Given the description of an element on the screen output the (x, y) to click on. 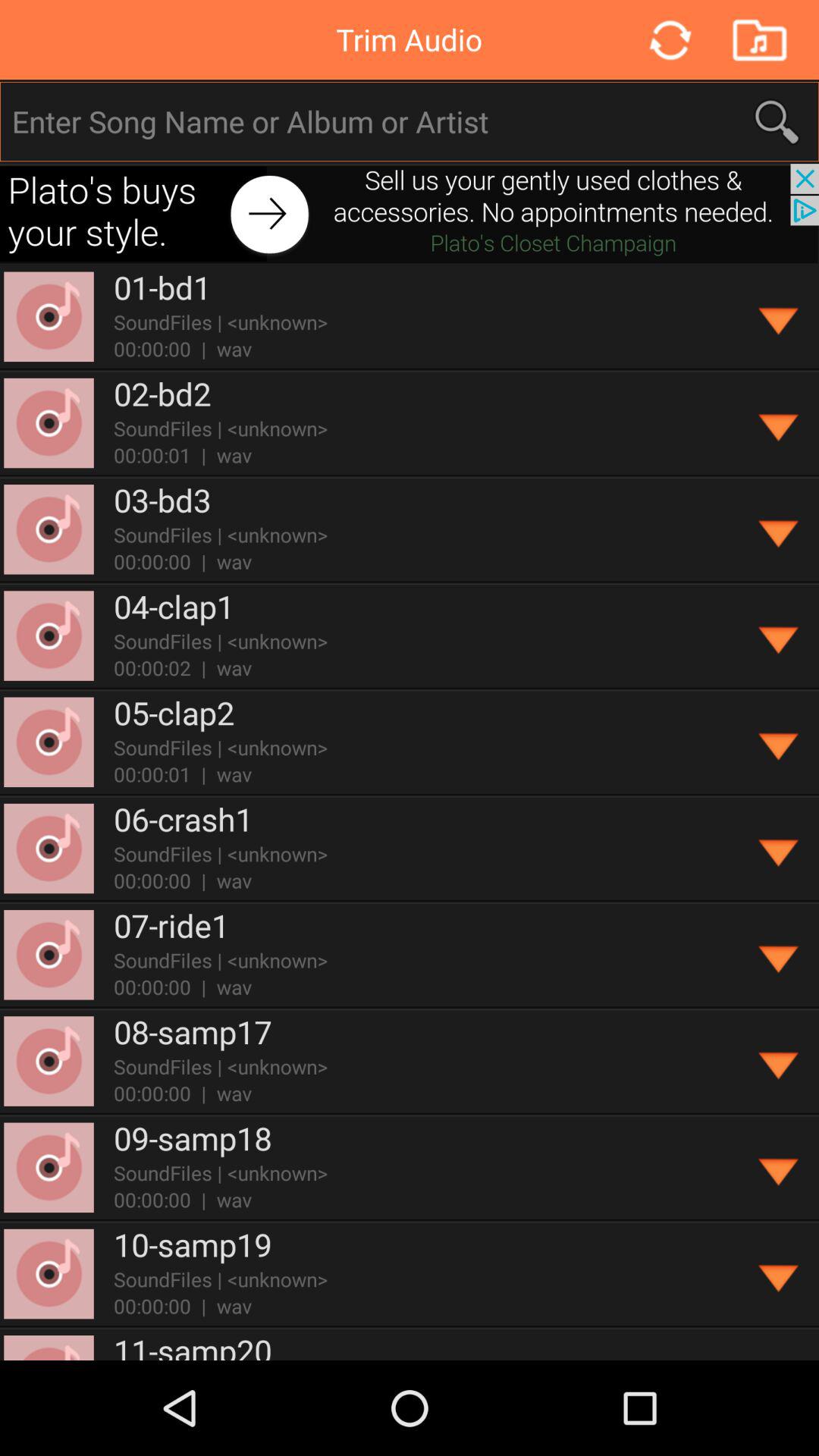
advertisements are notbohering us (409, 213)
